Given the description of an element on the screen output the (x, y) to click on. 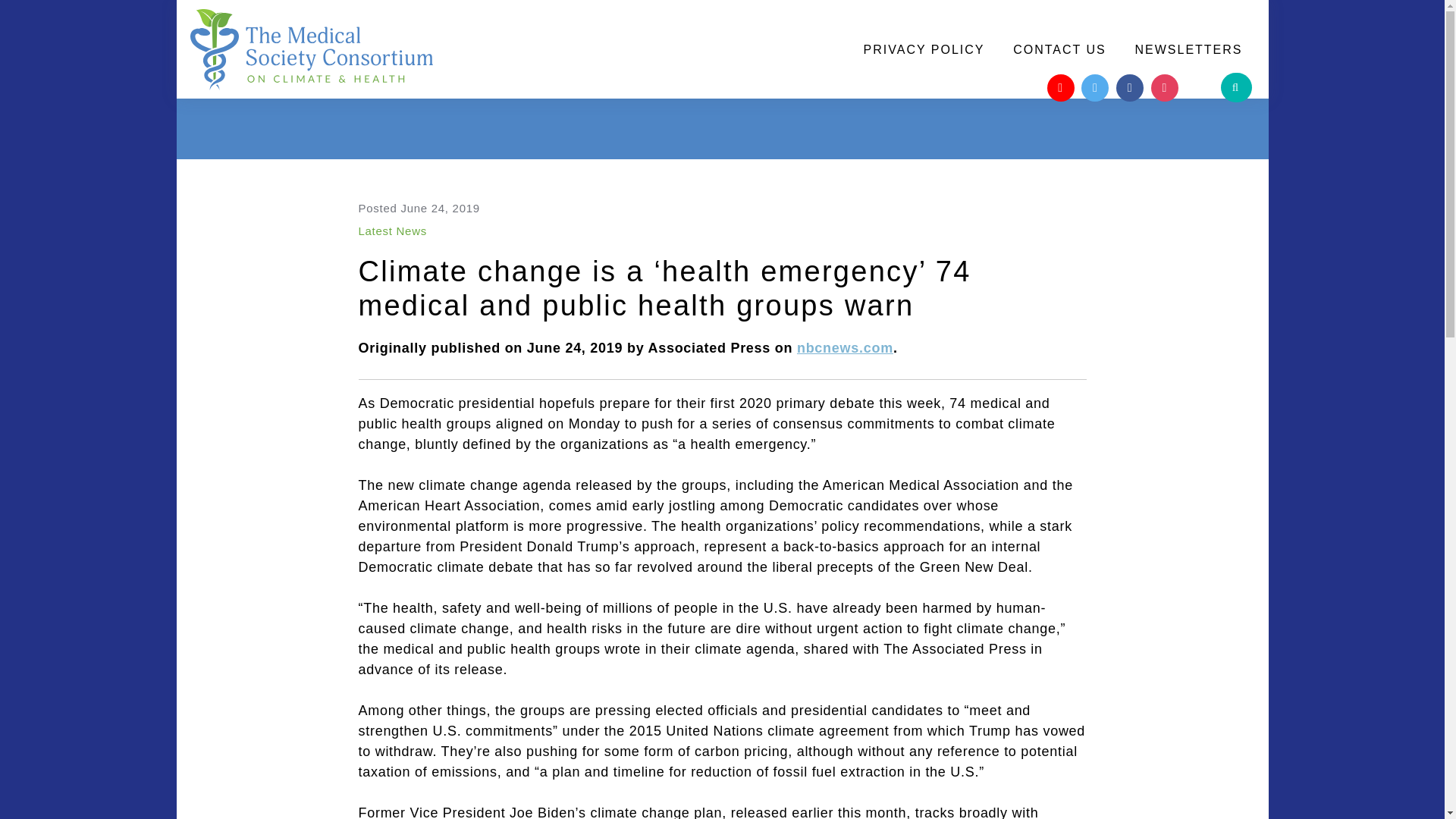
Follow us on Twitter (1094, 87)
PRIVACY POLICY (924, 49)
Like us on Facebook (1129, 87)
Latest News (392, 230)
CONTACT US (1059, 49)
NEWSLETTERS (1187, 49)
Find us on Instagram (1164, 87)
nbcnews.com (844, 347)
Watch us on YouTube (1060, 87)
